Given the description of an element on the screen output the (x, y) to click on. 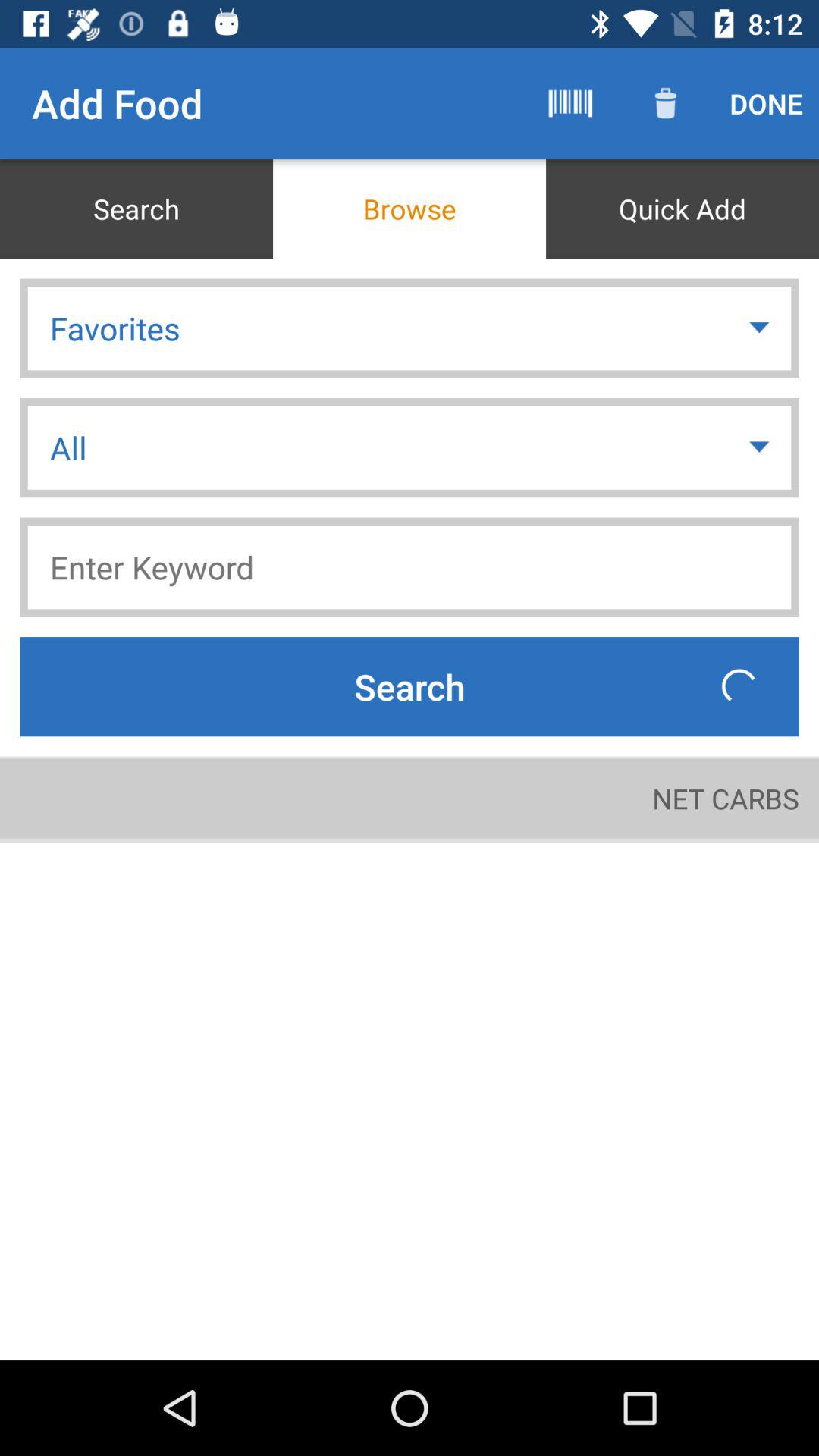
select icon below favorites (761, 447)
